Given the description of an element on the screen output the (x, y) to click on. 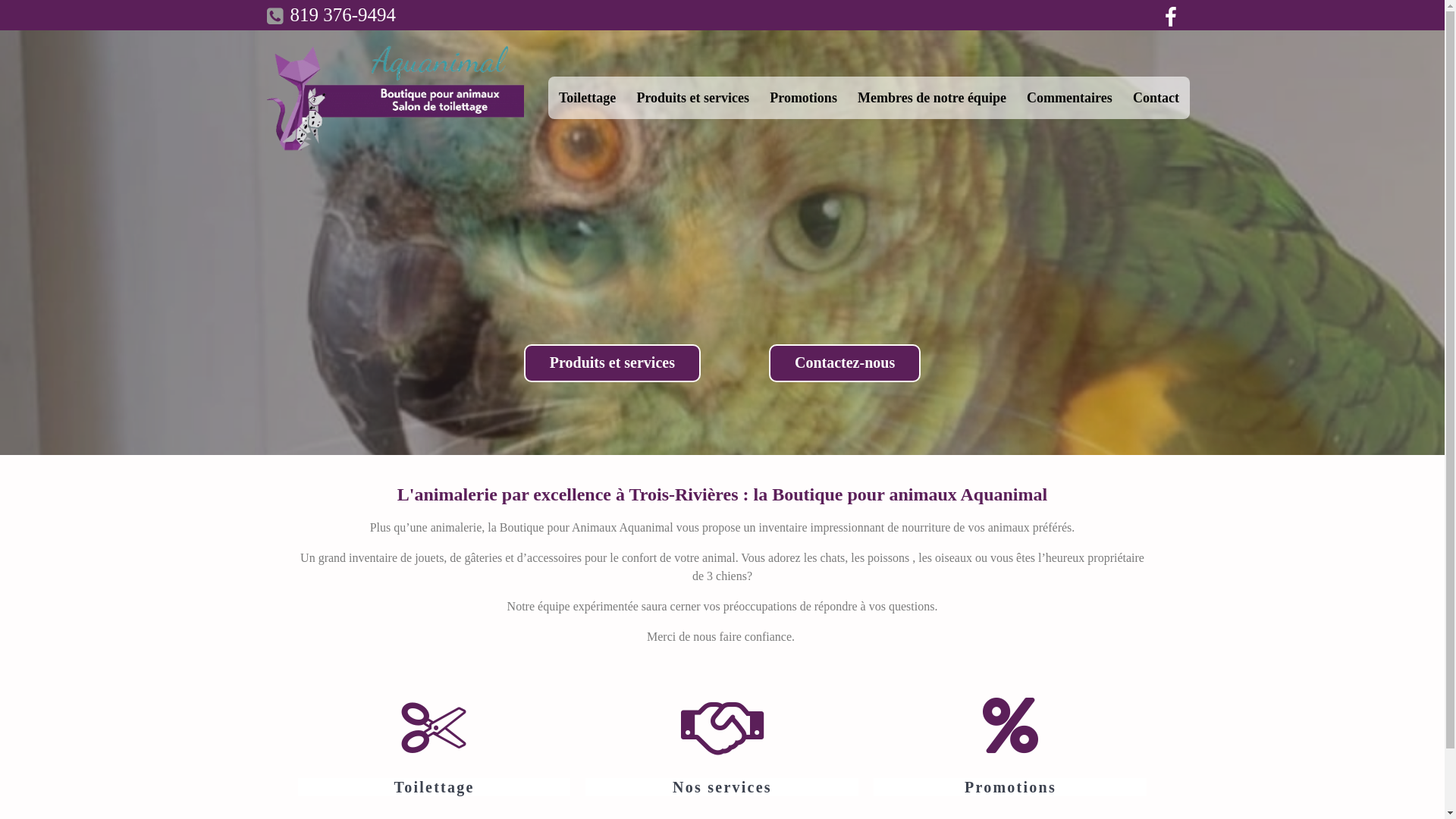
Produits et services Element type: text (692, 98)
Commentaires Element type: text (1069, 98)
Contact Element type: text (1155, 98)
Contactez-nous Element type: text (844, 363)
Produits et services Element type: text (612, 363)
Promotions Element type: text (803, 98)
Toilettage Element type: text (586, 98)
